Given the description of an element on the screen output the (x, y) to click on. 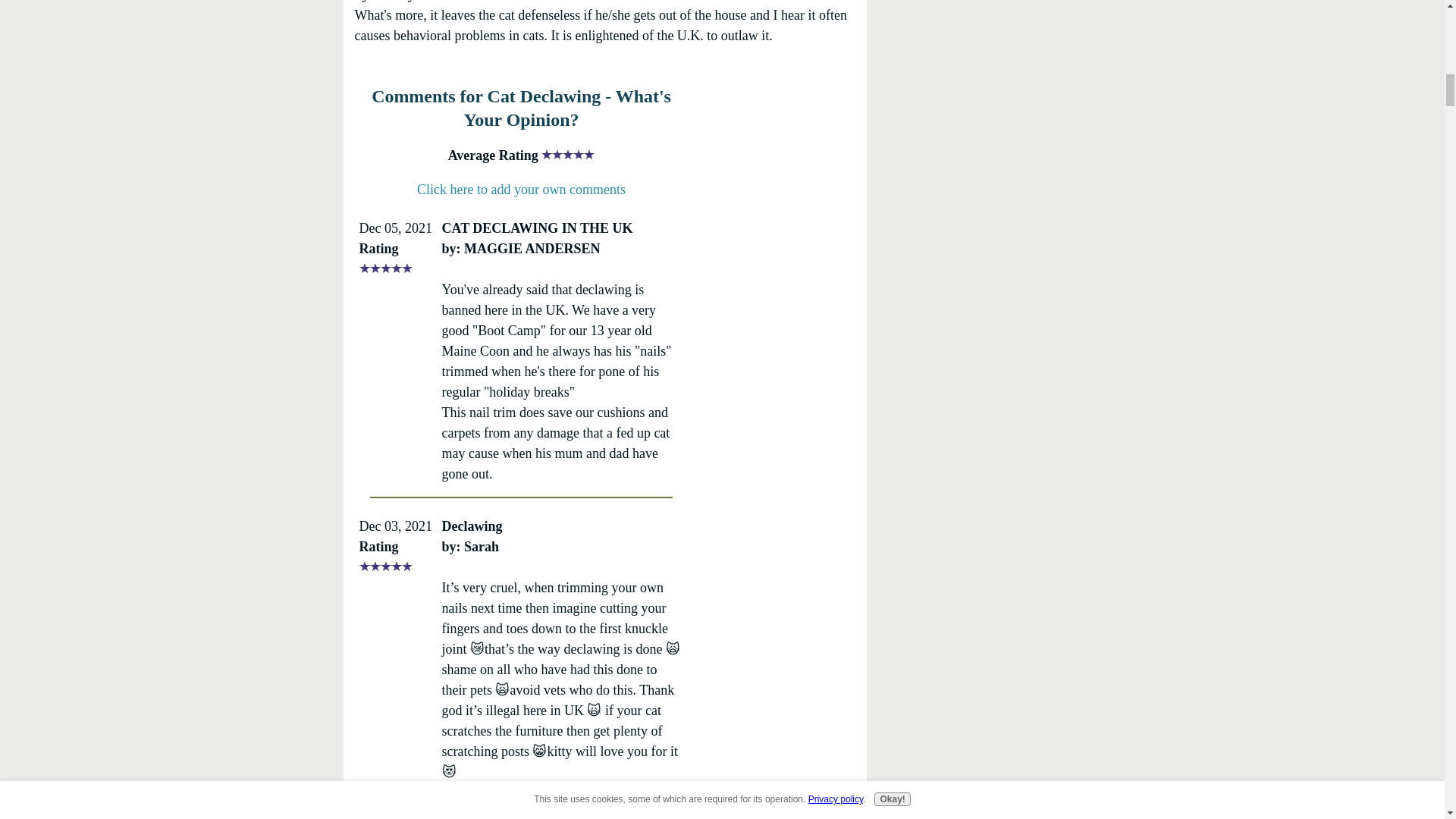
Click here to add your own comments (521, 189)
